Given the description of an element on the screen output the (x, y) to click on. 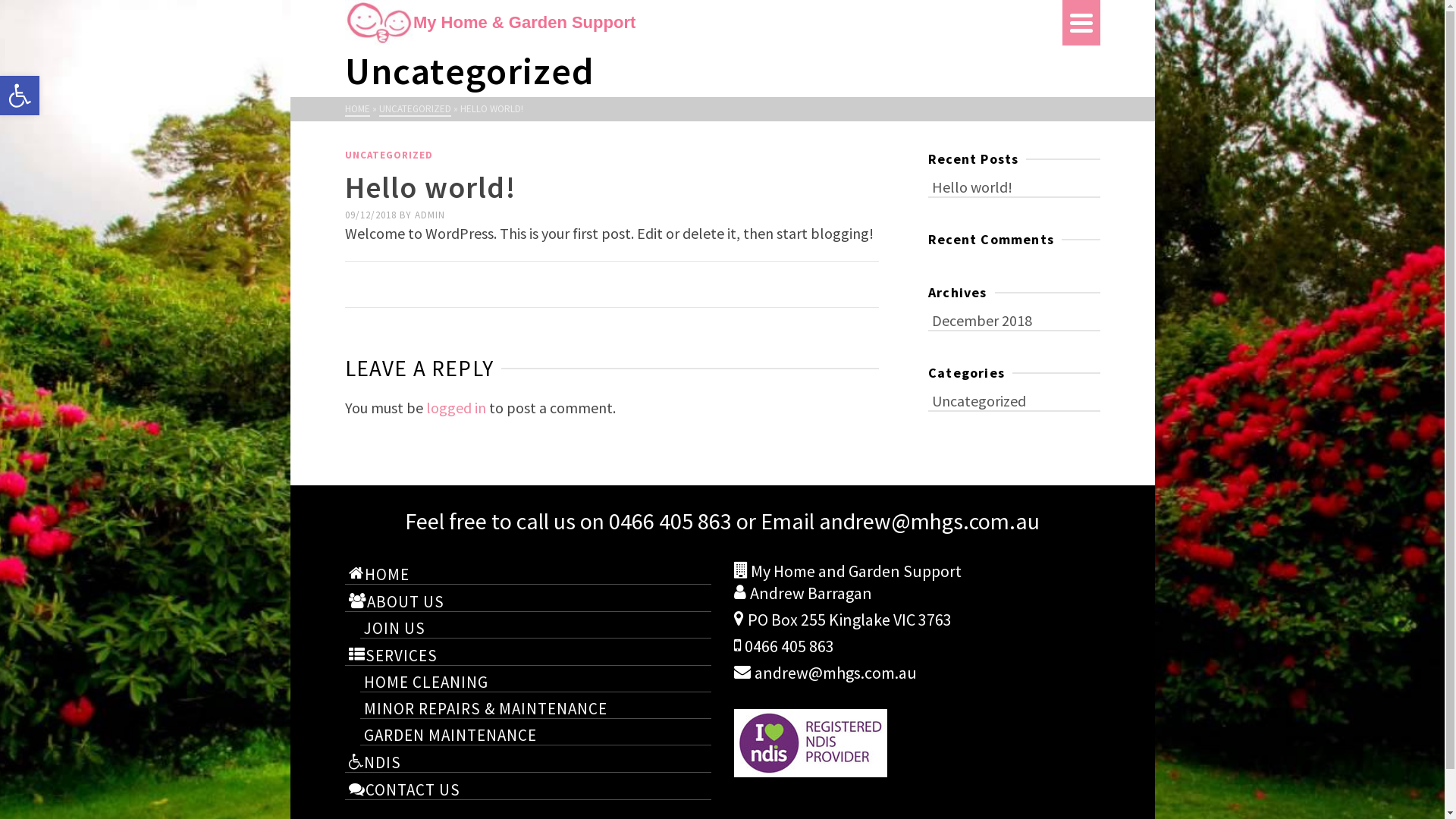
UNCATEGORIZED Element type: text (415, 109)
UNCATEGORIZED Element type: text (388, 154)
NDIS Element type: text (527, 760)
logged in Element type: text (456, 407)
Hello world! Element type: text (1014, 185)
Uncategorized Element type: text (1014, 399)
JOIN US Element type: text (534, 626)
HOME Element type: text (356, 109)
GARDEN MAINTENANCE Element type: text (534, 733)
ADMIN Element type: text (429, 214)
CONTACT US Element type: text (527, 788)
December 2018 Element type: text (1014, 319)
HOME CLEANING Element type: text (534, 680)
Open toolbar
Accessibility Tools Element type: text (19, 95)
andrew@mhgs.com.au Element type: text (929, 520)
0466 405 863 Element type: text (669, 521)
andrew@mhgs.com.au Element type: text (825, 672)
HOME Element type: text (527, 572)
SERVICES Element type: text (527, 653)
ABOUT US Element type: text (527, 599)
MINOR REPAIRS & MAINTENANCE Element type: text (534, 707)
My Home & Garden Support Element type: text (702, 22)
